Given the description of an element on the screen output the (x, y) to click on. 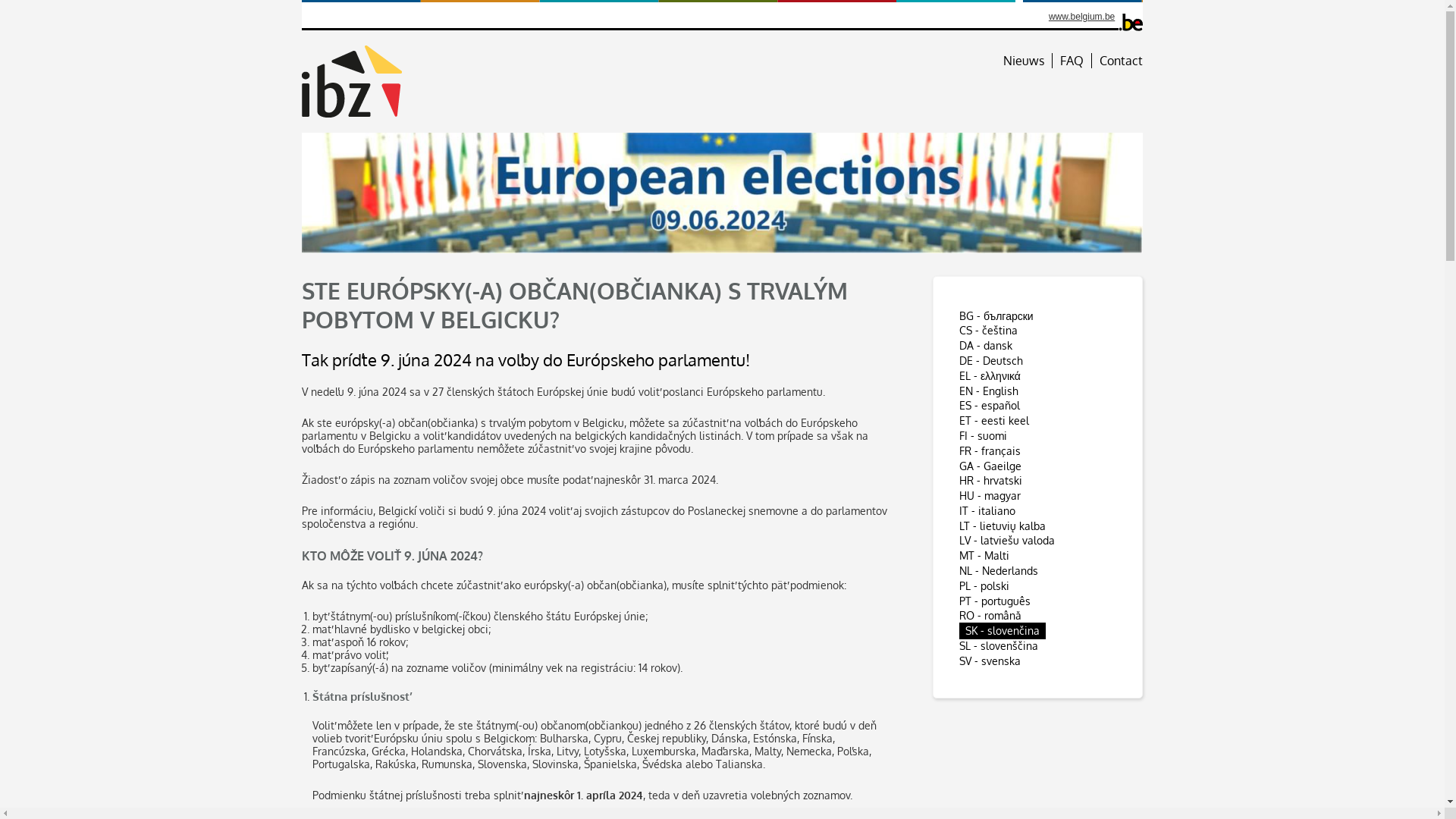
EN - English Element type: text (988, 390)
PL - polski Element type: text (984, 585)
Nieuws Element type: text (1027, 60)
GA - Gaeilge Element type: text (990, 465)
NL - Nederlands Element type: text (998, 570)
DE - Deutsch Element type: text (990, 360)
www.belgium.be Element type: text (1081, 16)
Overslaan en naar de inhoud gaan Element type: text (0, 0)
DA - dansk Element type: text (985, 344)
HR - hrvatski Element type: text (990, 479)
FAQ Element type: text (1076, 60)
IT - italiano Element type: text (987, 510)
SV - svenska Element type: text (989, 660)
FI - suomi Element type: text (983, 435)
MT - Malti Element type: text (984, 555)
Contact Element type: text (1120, 60)
ET - eesti keel Element type: text (994, 420)
HU - magyar Element type: text (989, 495)
